Given the description of an element on the screen output the (x, y) to click on. 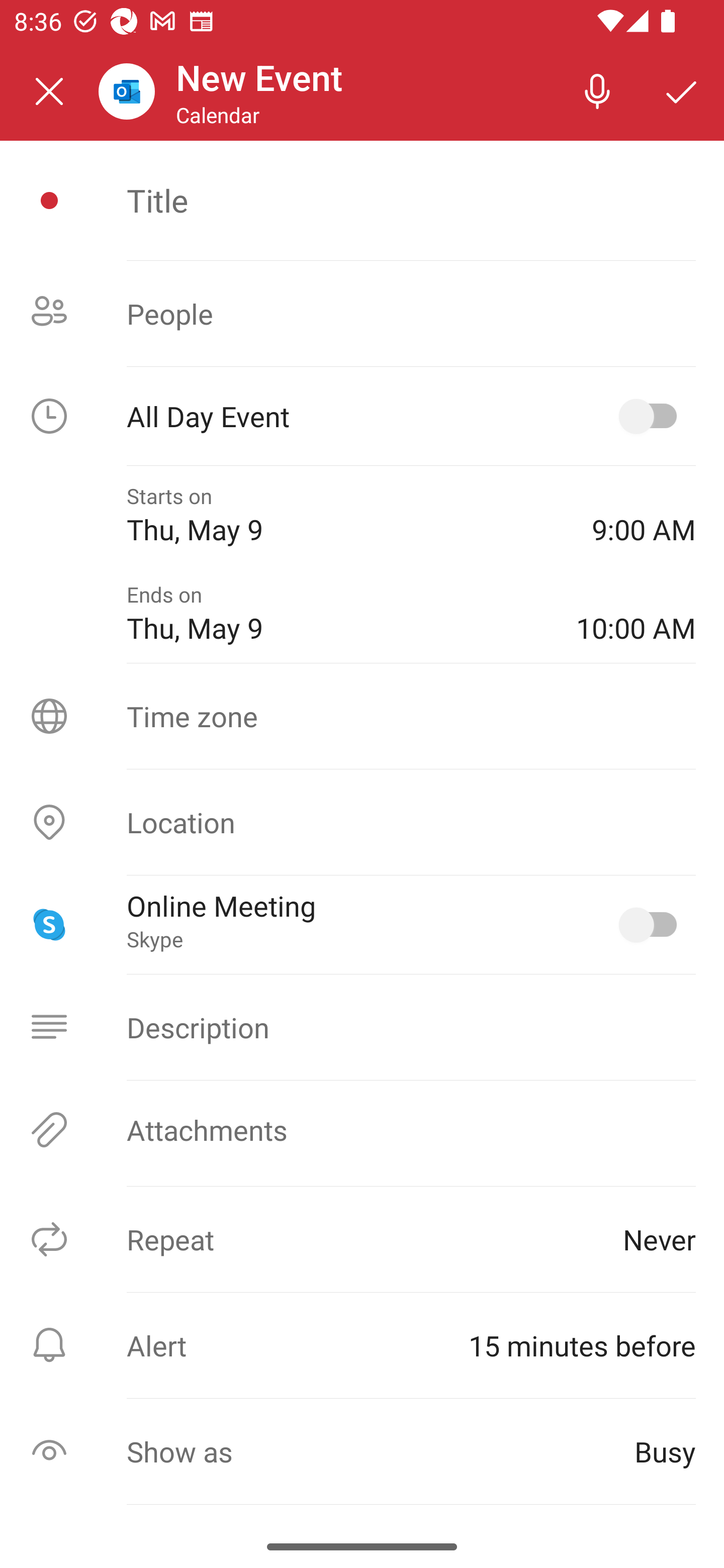
Close (49, 91)
Save (681, 90)
Title (410, 200)
Event icon picker (48, 200)
People (362, 313)
All Day Event (362, 415)
Starts on Thu, May 9 (344, 514)
9:00 AM (643, 514)
Ends on Thu, May 9 (336, 613)
10:00 AM (635, 613)
Time zone (362, 715)
Location (362, 821)
Online Meeting, Skype selected (651, 923)
Description (362, 1026)
Attachments (362, 1129)
Repeat Never (362, 1239)
Alert ⁨15 minutes before (362, 1345)
Show as Busy (362, 1450)
